Given the description of an element on the screen output the (x, y) to click on. 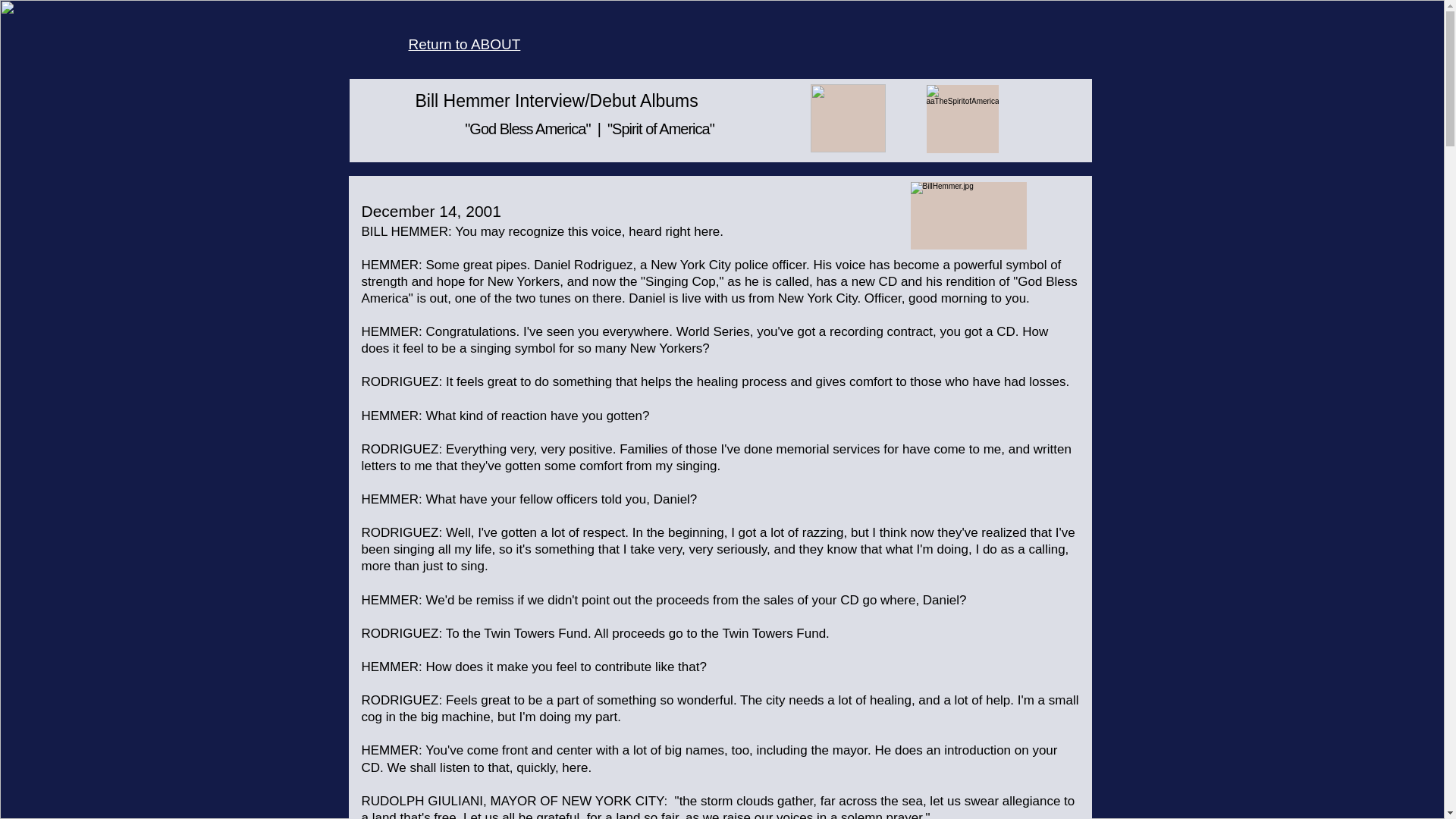
Return to ABOUT (463, 44)
